Given the description of an element on the screen output the (x, y) to click on. 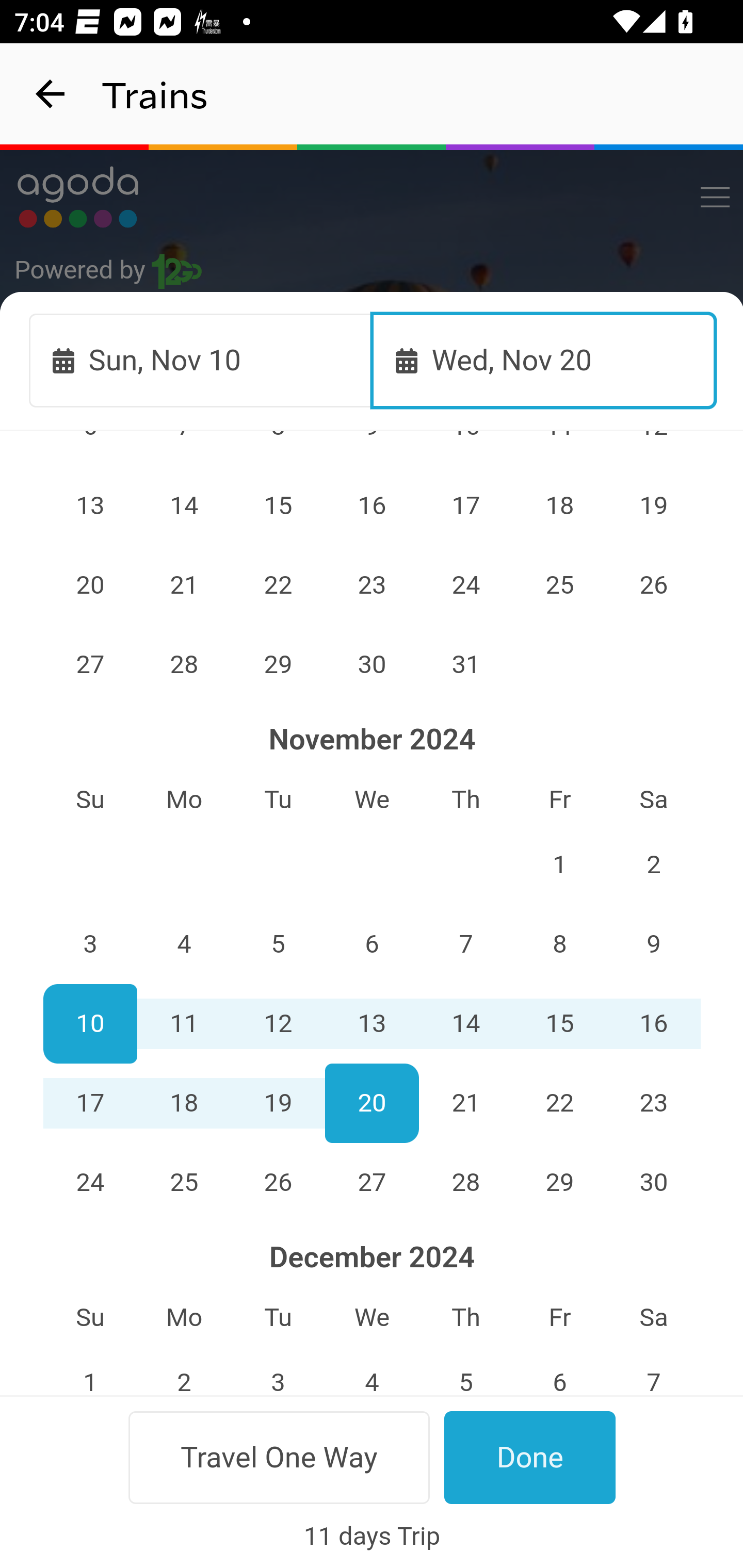
navigation_button (50, 93)
Sun, Nov 10 (200, 359)
Wed, Nov 20 (544, 359)
13 (90, 505)
14 (184, 505)
15 (278, 505)
16 (372, 505)
17 (465, 505)
18 (559, 505)
19 (654, 505)
20 (90, 585)
21 (184, 585)
22 (278, 585)
23 (372, 585)
24 (465, 585)
25 (559, 585)
26 (654, 585)
27 (90, 663)
28 (184, 663)
29 (278, 663)
30 (372, 663)
31 (465, 663)
1 (559, 864)
2 (654, 864)
3 (90, 944)
4 (184, 944)
5 (278, 944)
6 (372, 944)
7 (465, 944)
8 (559, 944)
9 (654, 944)
10 (90, 1022)
11 (184, 1022)
12 (278, 1022)
13 (372, 1022)
14 (465, 1022)
15 (559, 1022)
16 (654, 1022)
17 (90, 1102)
18 (184, 1102)
19 (278, 1102)
20 (372, 1102)
21 (465, 1102)
22 (559, 1102)
23 (654, 1102)
24 (90, 1182)
25 (184, 1182)
26 (278, 1182)
27 (372, 1182)
